Given the description of an element on the screen output the (x, y) to click on. 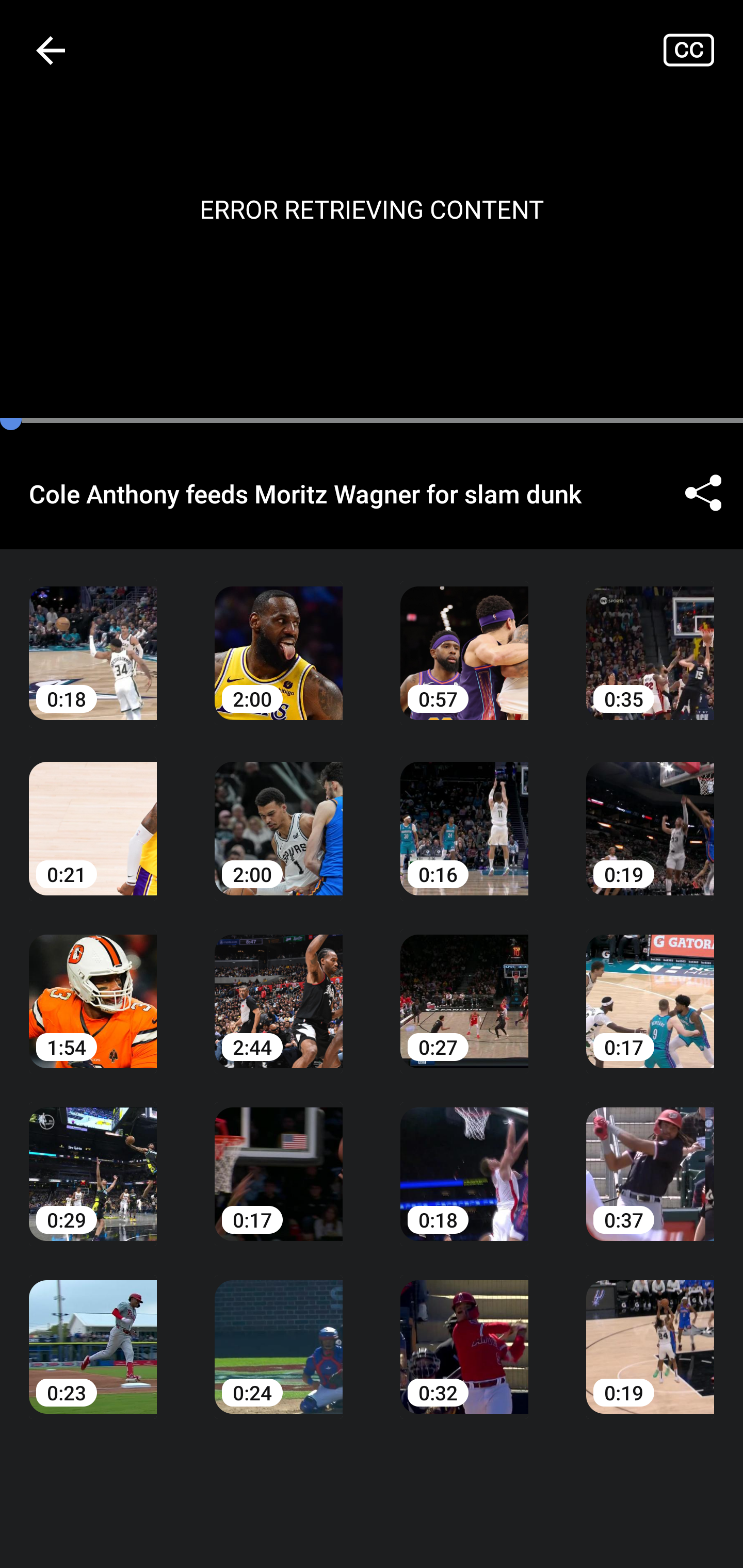
Navigate up (50, 50)
Closed captions  (703, 49)
Share © (703, 493)
0:18 (92, 637)
2:00 (278, 637)
0:57 (464, 637)
0:35 (650, 637)
0:21 (92, 813)
2:00 (278, 813)
0:16 (464, 813)
0:19 (650, 813)
1:54 (92, 987)
2:44 (278, 987)
0:27 (464, 987)
0:17 (650, 987)
0:29 (92, 1160)
0:17 (278, 1160)
0:18 (464, 1160)
0:37 (650, 1160)
0:23 (92, 1332)
0:24 (278, 1332)
0:32 (464, 1332)
0:19 (650, 1332)
